Given the description of an element on the screen output the (x, y) to click on. 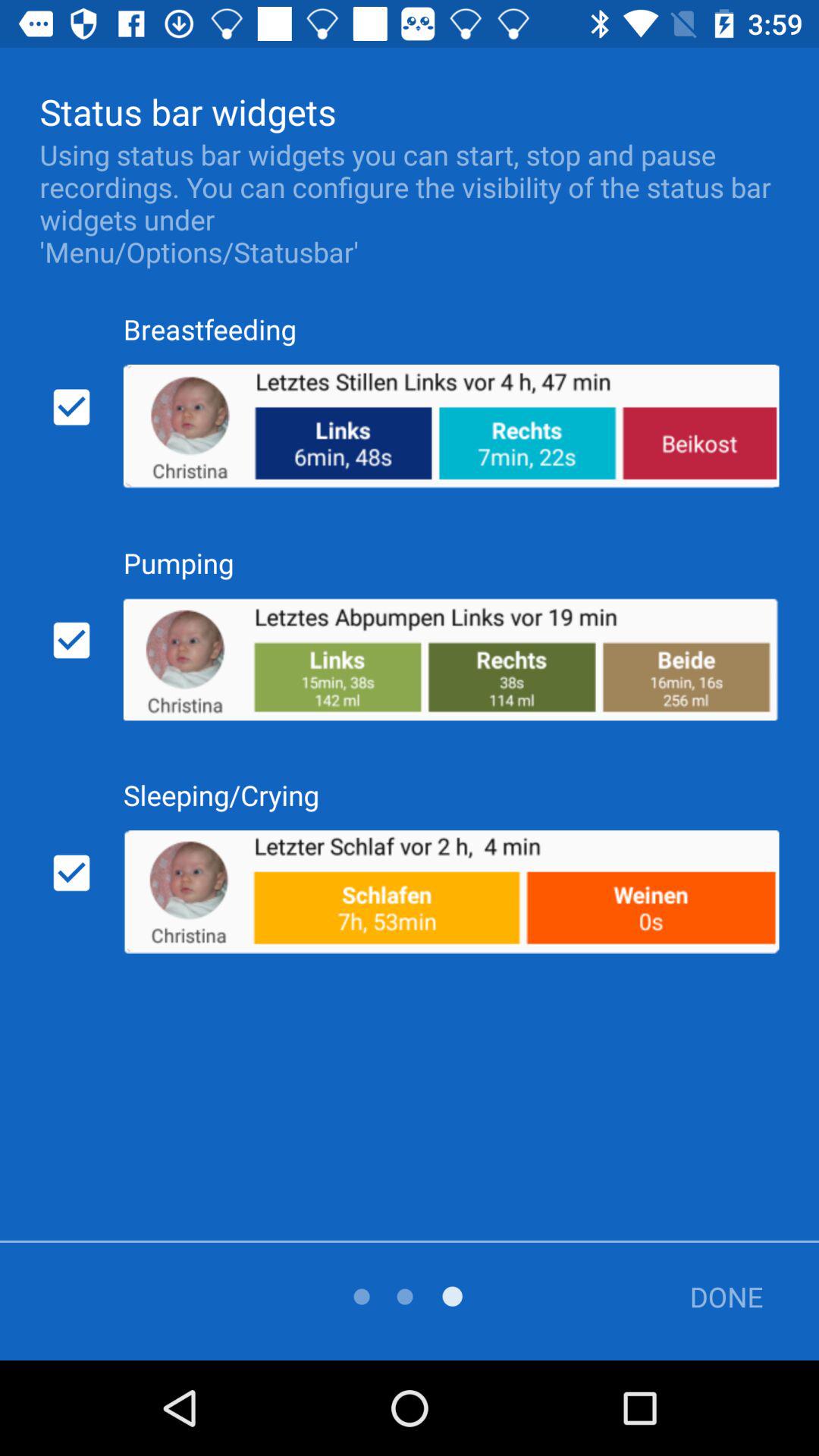
toggle widget on/off (71, 640)
